Given the description of an element on the screen output the (x, y) to click on. 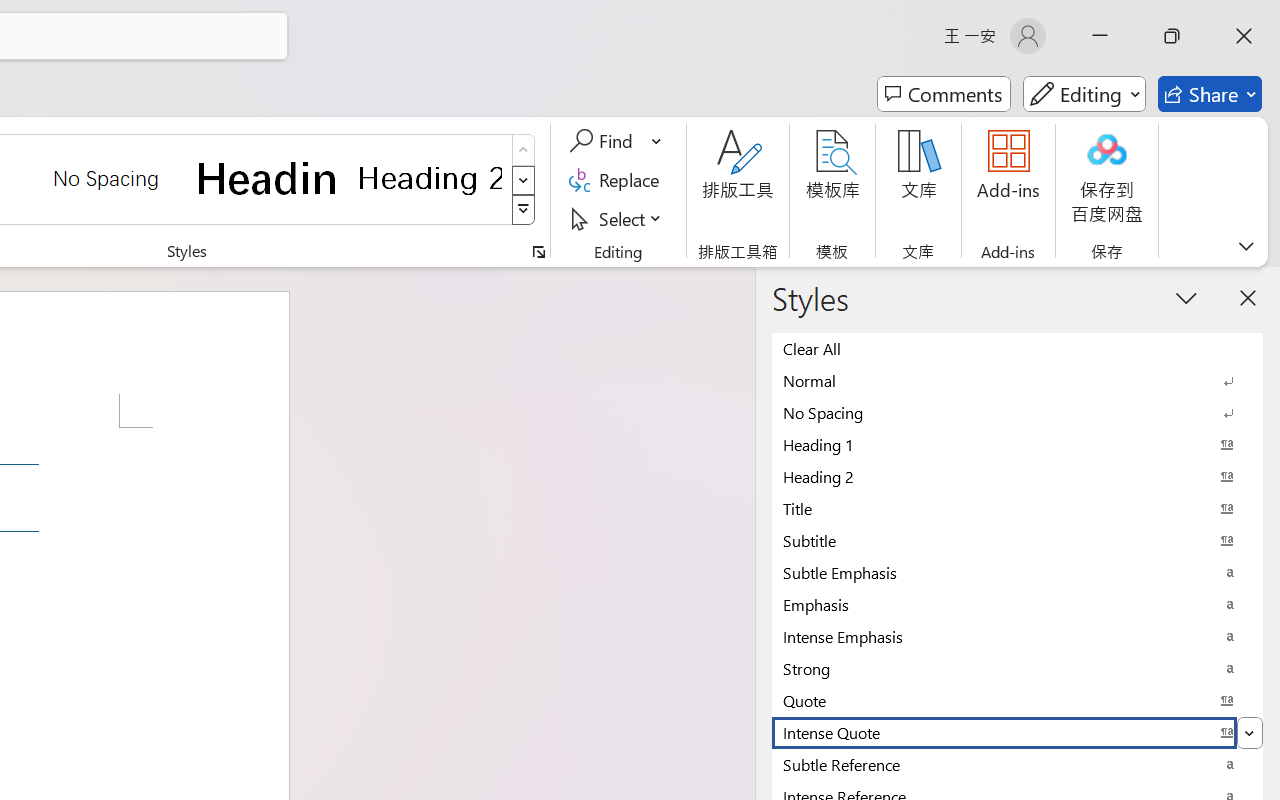
Row up (523, 150)
Select (618, 218)
Intense Quote (1017, 732)
Row Down (523, 180)
Intense Emphasis (1017, 636)
